Given the description of an element on the screen output the (x, y) to click on. 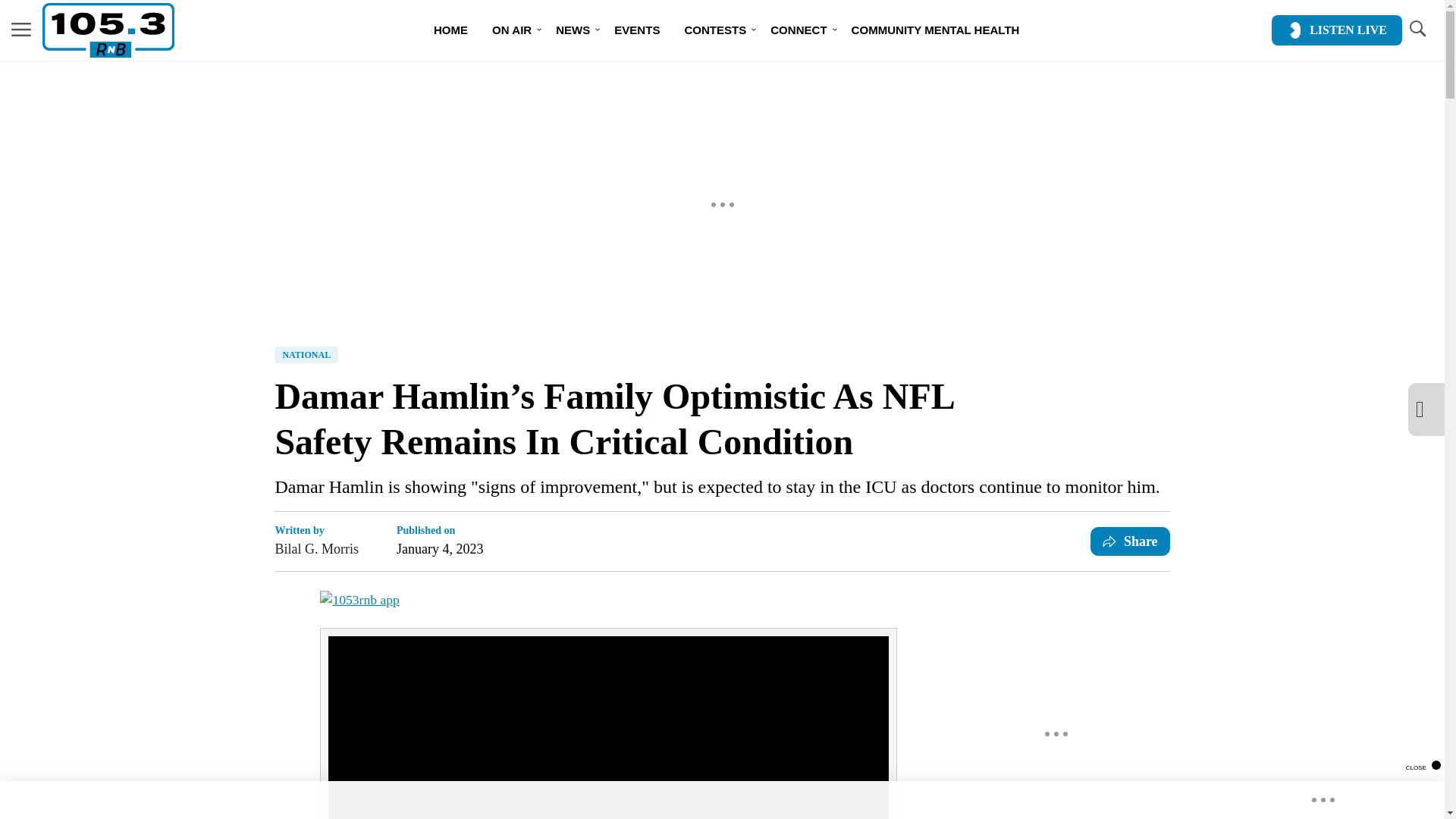
HOME (451, 30)
NEWS (572, 30)
CONTESTS (714, 30)
COMMUNITY MENTAL HEALTH (936, 30)
Share (1130, 541)
CONNECT (798, 30)
LISTEN LIVE (1336, 30)
EVENTS (636, 30)
MENU (20, 30)
Bilal G. Morris (316, 548)
TOGGLE SEARCH (1417, 28)
MENU (20, 29)
NATIONAL (306, 354)
TOGGLE SEARCH (1417, 30)
ON AIR (511, 30)
